Given the description of an element on the screen output the (x, y) to click on. 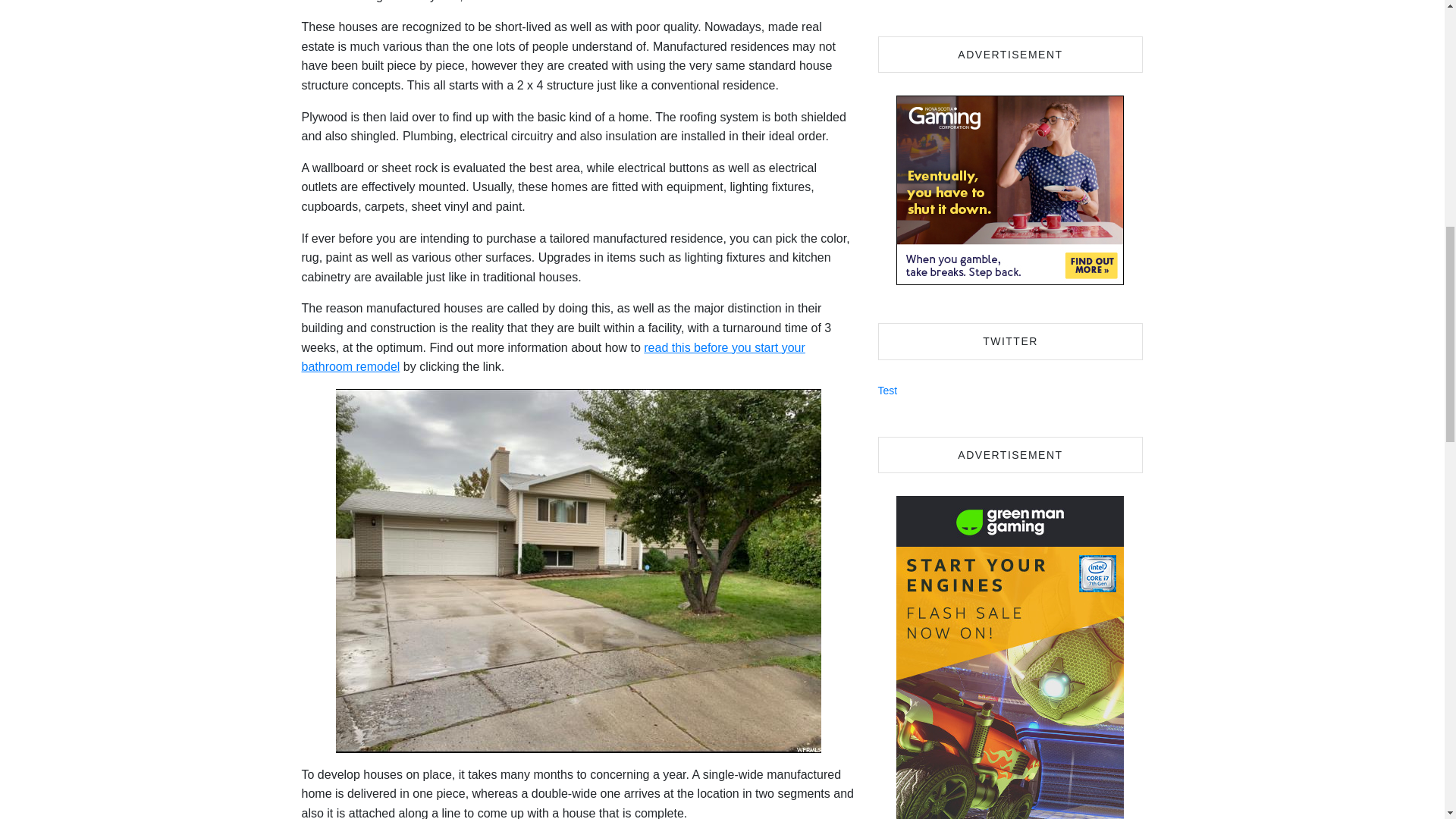
read this before you start your bathroom remodel (553, 357)
